Given the description of an element on the screen output the (x, y) to click on. 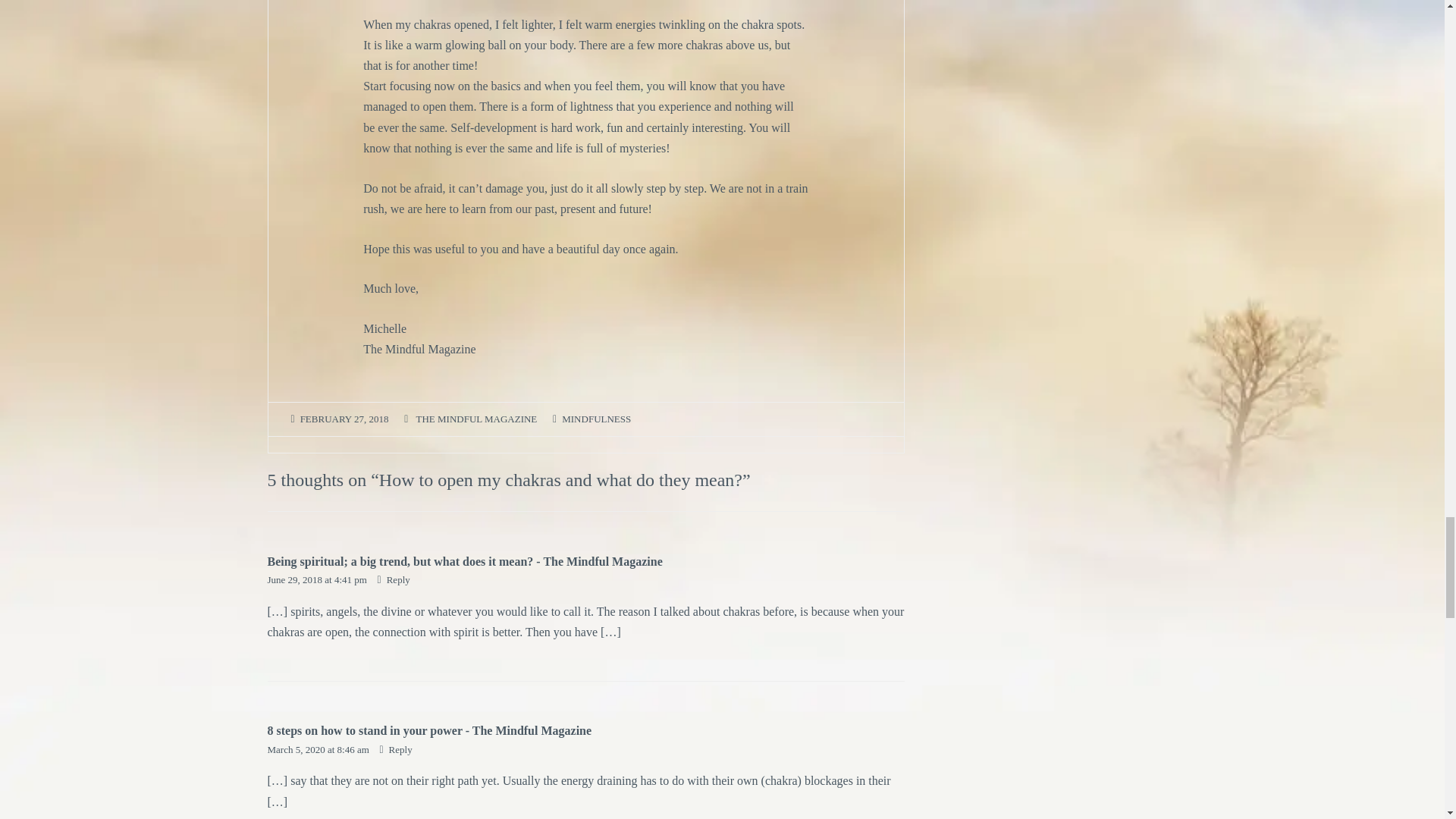
THE MINDFUL MAGAZINE (475, 419)
June 29, 2018 at 4:41 pm (317, 579)
March 5, 2020 at 8:46 am (318, 749)
MINDFULNESS (596, 419)
Reply (393, 579)
Reply (395, 749)
8 steps on how to stand in your power - The Mindful Magazine (428, 730)
FEBRUARY 27, 2018 (343, 419)
